Given the description of an element on the screen output the (x, y) to click on. 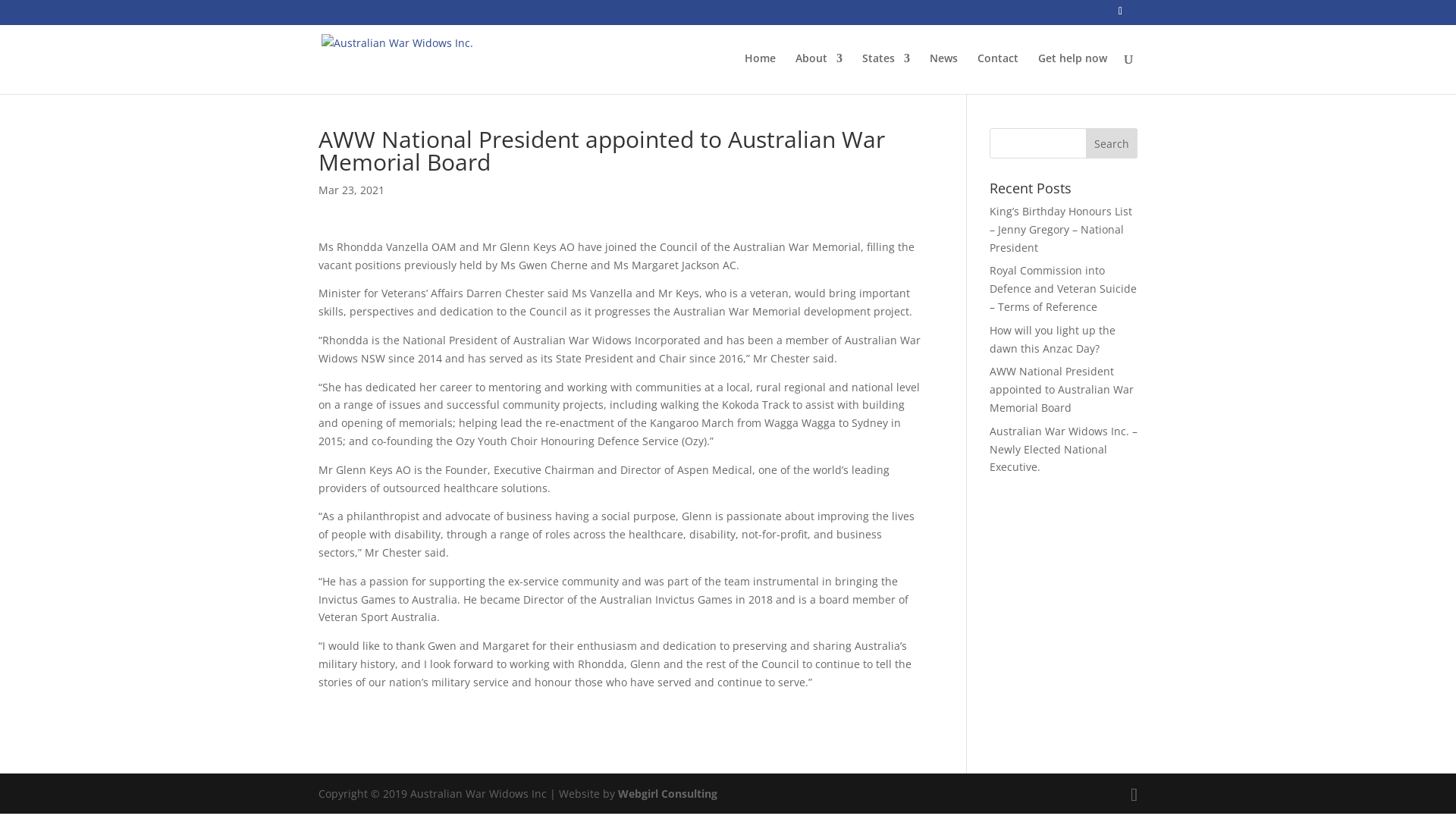
About Element type: text (818, 73)
Get help now Element type: text (1072, 73)
Search Element type: text (1111, 143)
News Element type: text (943, 73)
Contact Element type: text (997, 73)
States Element type: text (886, 73)
Webgirl Consulting Element type: text (667, 793)
Home Element type: text (759, 73)
How will you light up the dawn this Anzac Day? Element type: text (1052, 339)
